Given the description of an element on the screen output the (x, y) to click on. 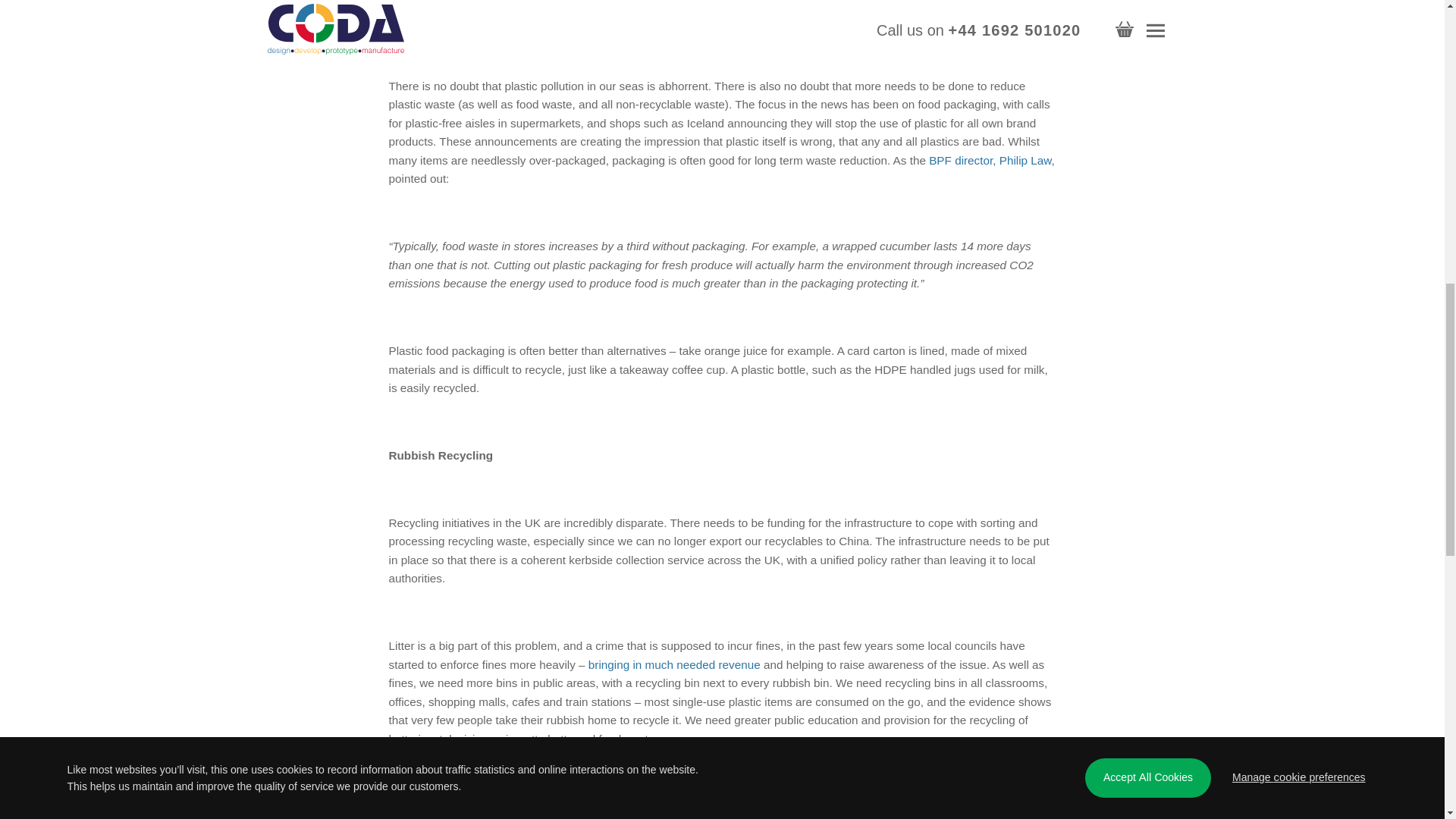
BPF director, Philip Law (989, 160)
bringing in much needed revenue (674, 664)
